Given the description of an element on the screen output the (x, y) to click on. 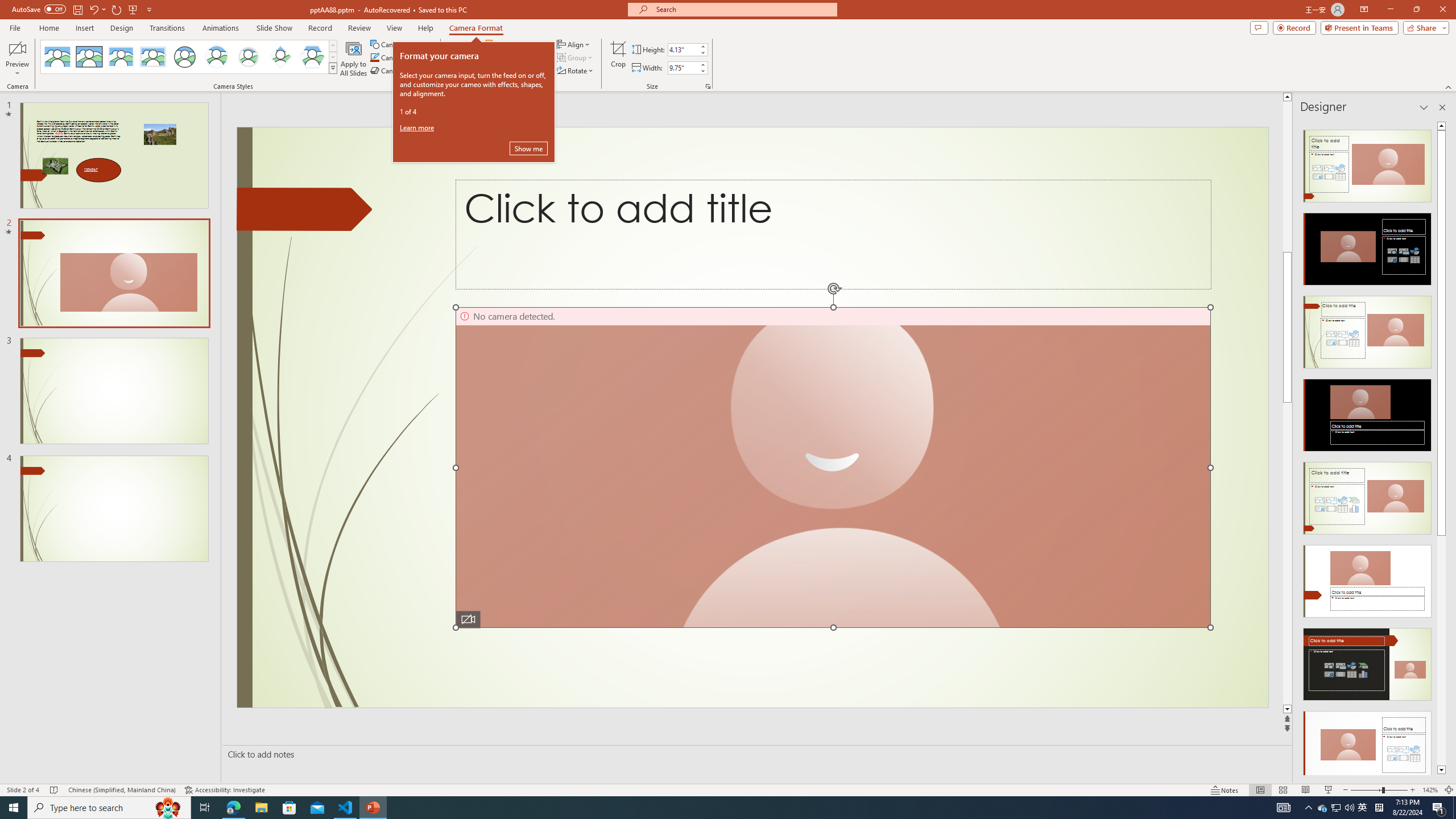
Group (575, 56)
Enable Camera Preview (17, 48)
Less (702, 70)
Bring Forward (513, 44)
Center Shadow Diamond (280, 56)
